Given the description of an element on the screen output the (x, y) to click on. 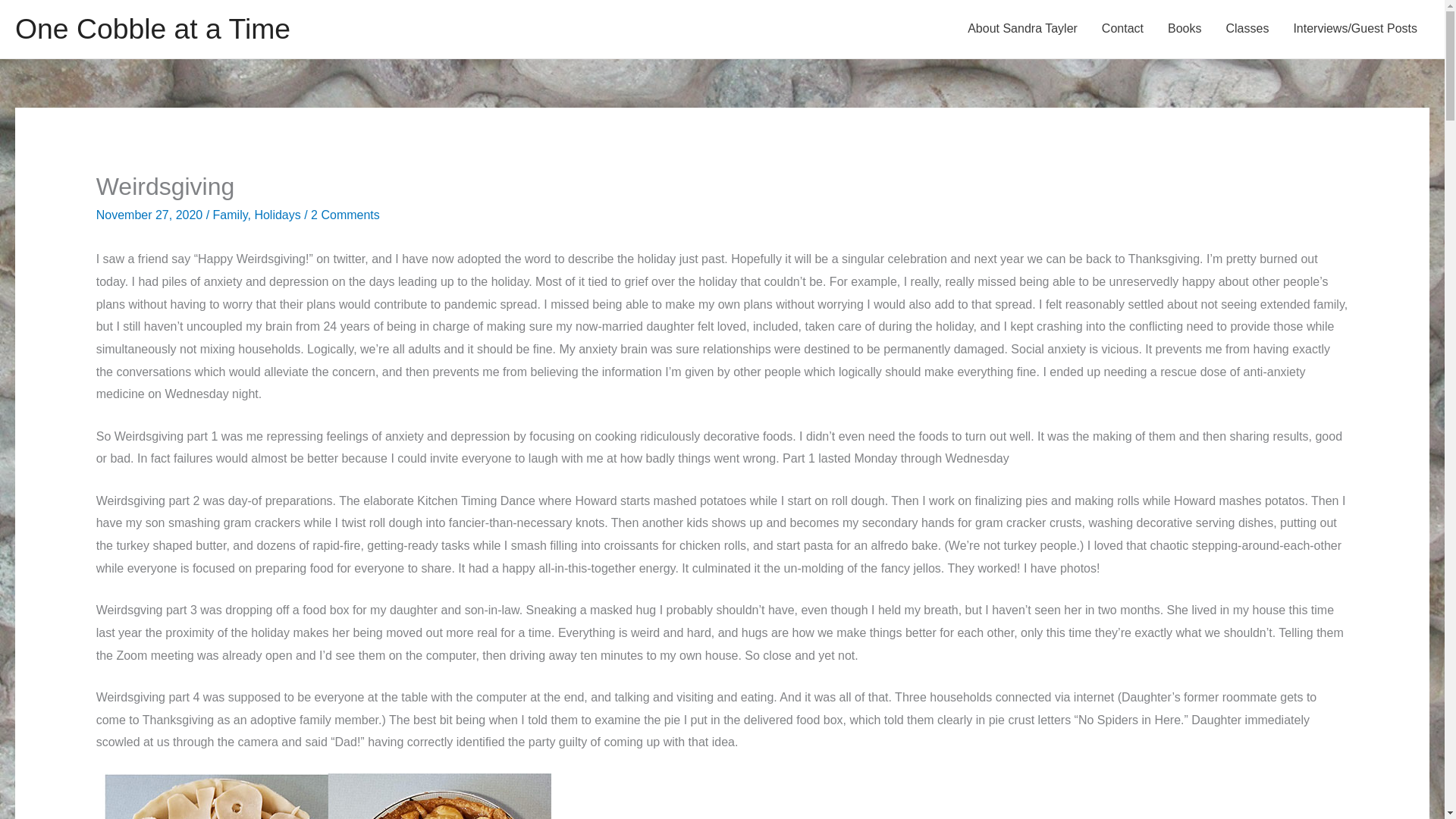
Family (229, 214)
One Cobble at a Time (151, 29)
Contact (1122, 29)
2 Comments (345, 214)
Classes (1246, 29)
Holidays (276, 214)
About Sandra Tayler (1022, 29)
Books (1184, 29)
